Given the description of an element on the screen output the (x, y) to click on. 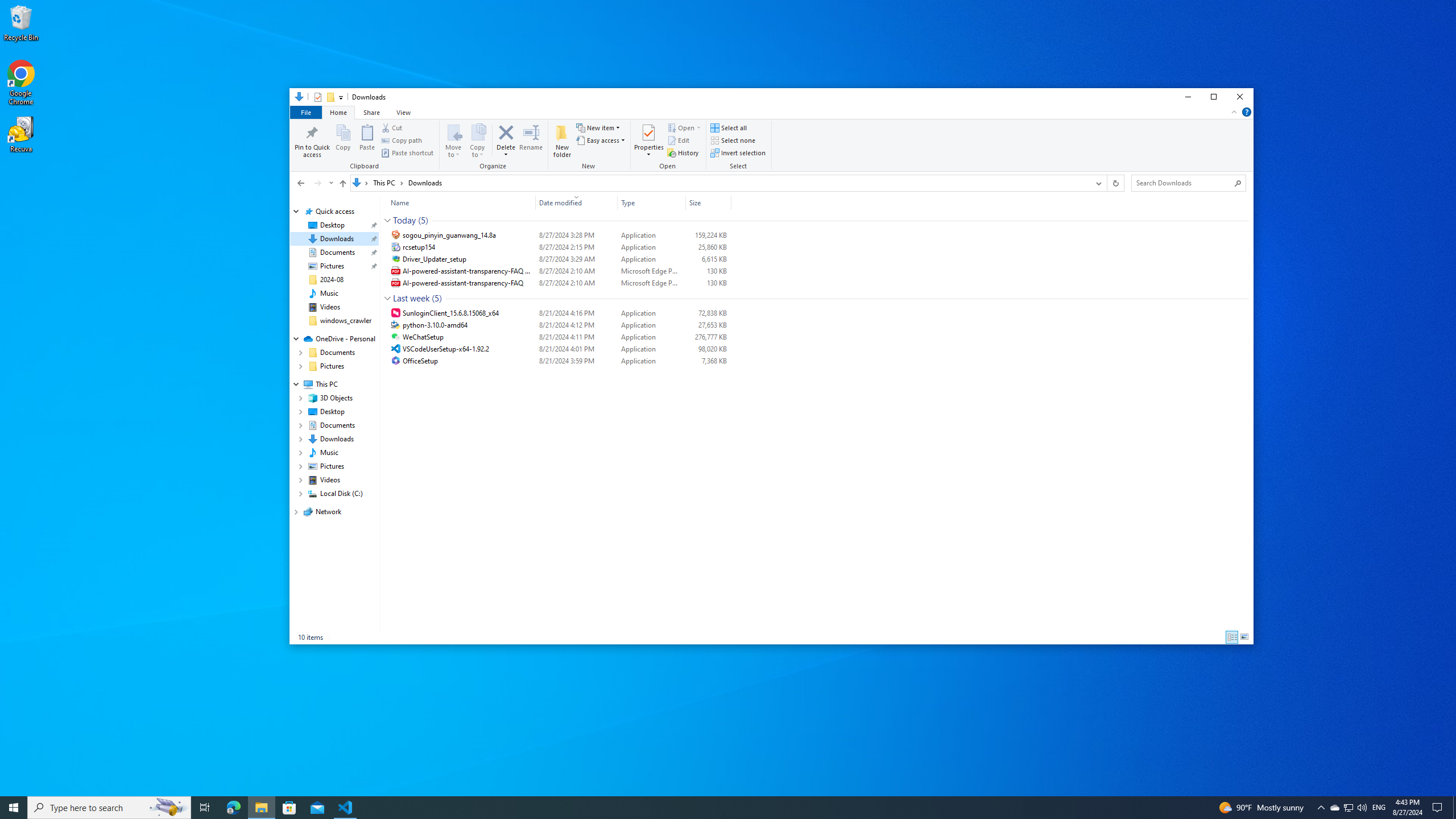
Music (328, 293)
2024-08 (331, 279)
Organize (494, 145)
Type (651, 202)
Minimize (1187, 96)
Date modified (576, 202)
File tab (305, 111)
Paste (367, 140)
File Explorer - 1 running window (261, 807)
Details (1231, 636)
Videos (329, 306)
Date modified (576, 360)
Open (668, 145)
